Given the description of an element on the screen output the (x, y) to click on. 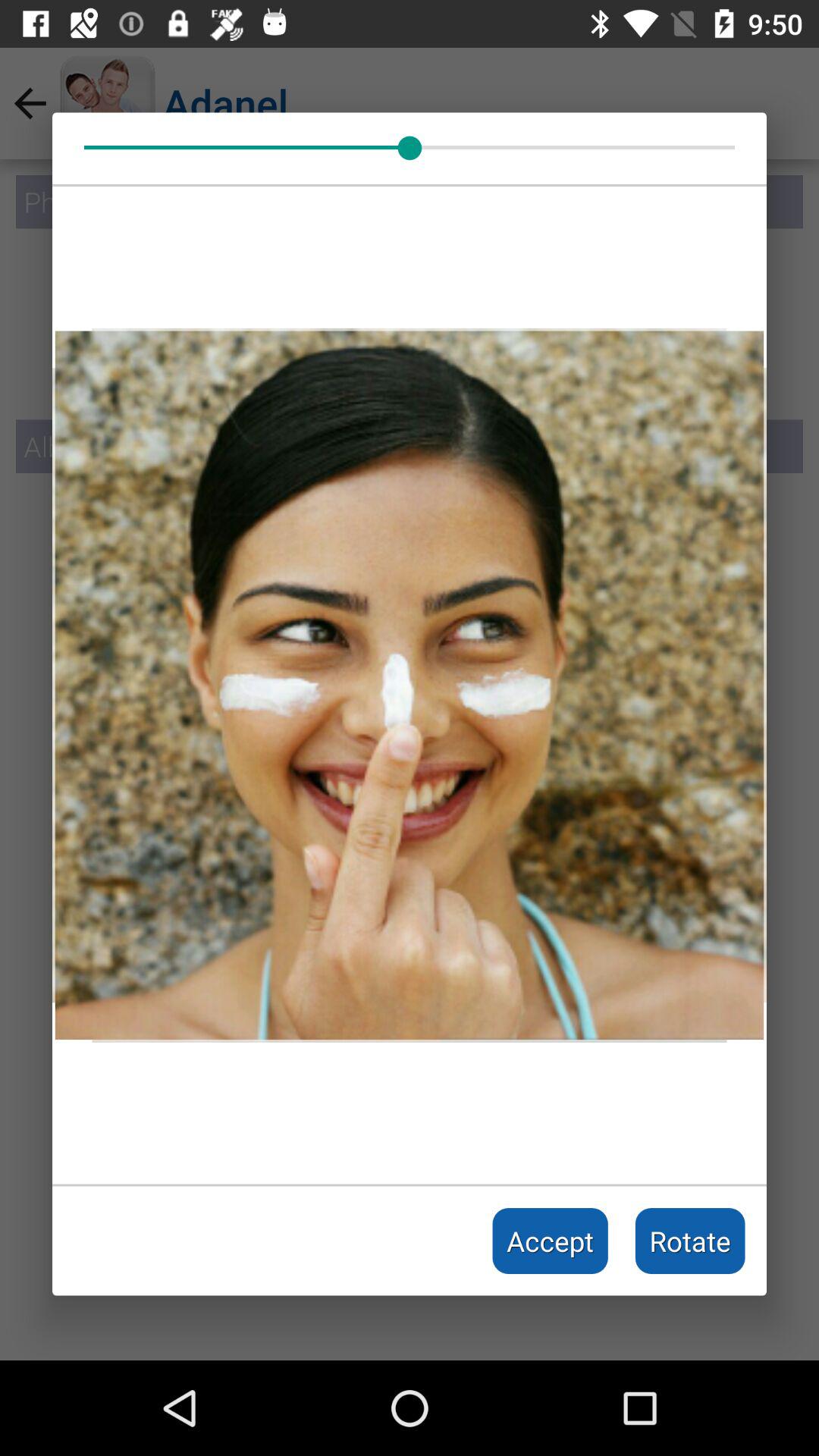
open the item next to the accept item (689, 1240)
